Given the description of an element on the screen output the (x, y) to click on. 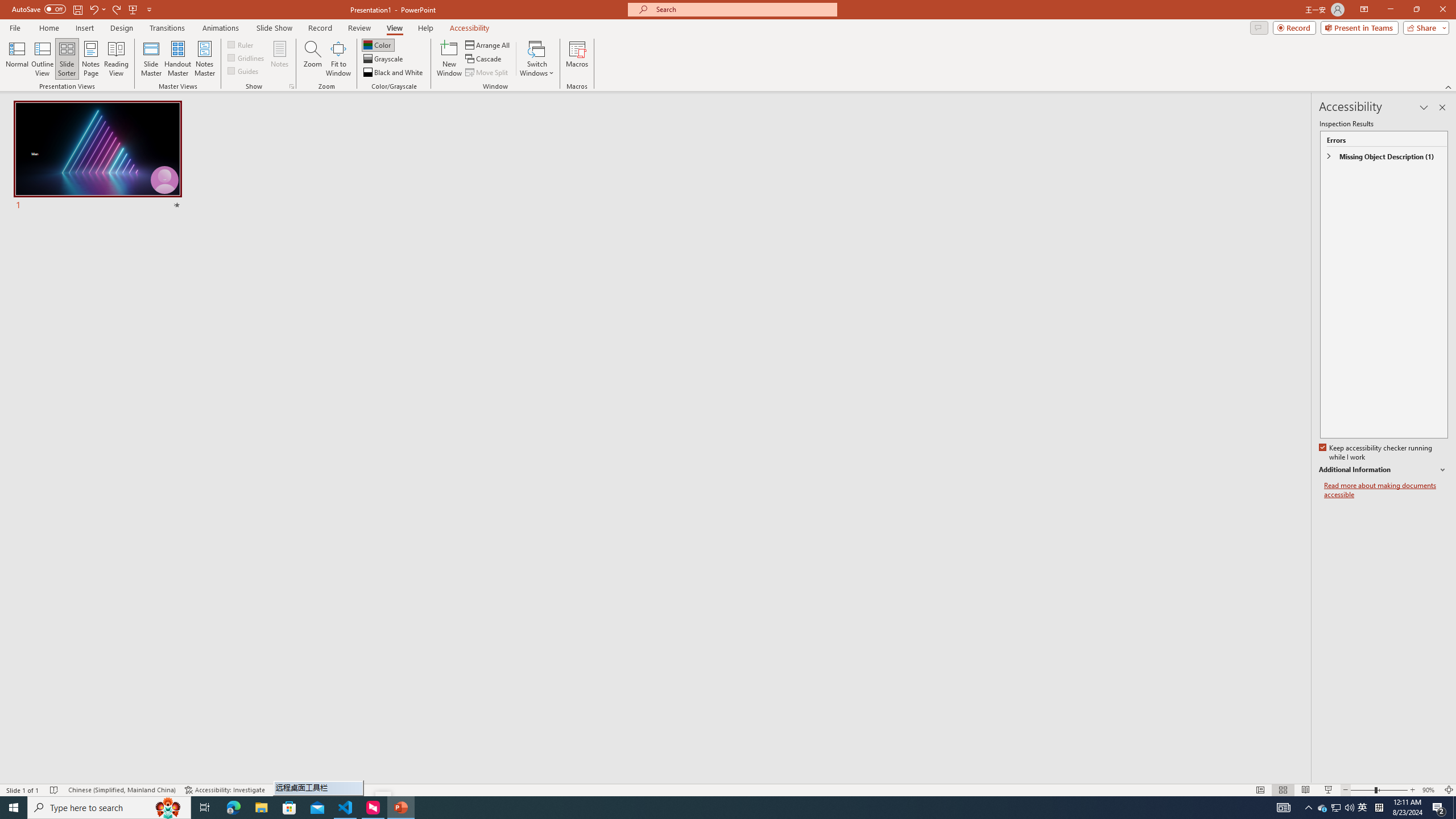
Notes Master (204, 58)
New Window (449, 58)
Grid Settings... (291, 85)
Ruler (241, 44)
Guides (243, 69)
